Given the description of an element on the screen output the (x, y) to click on. 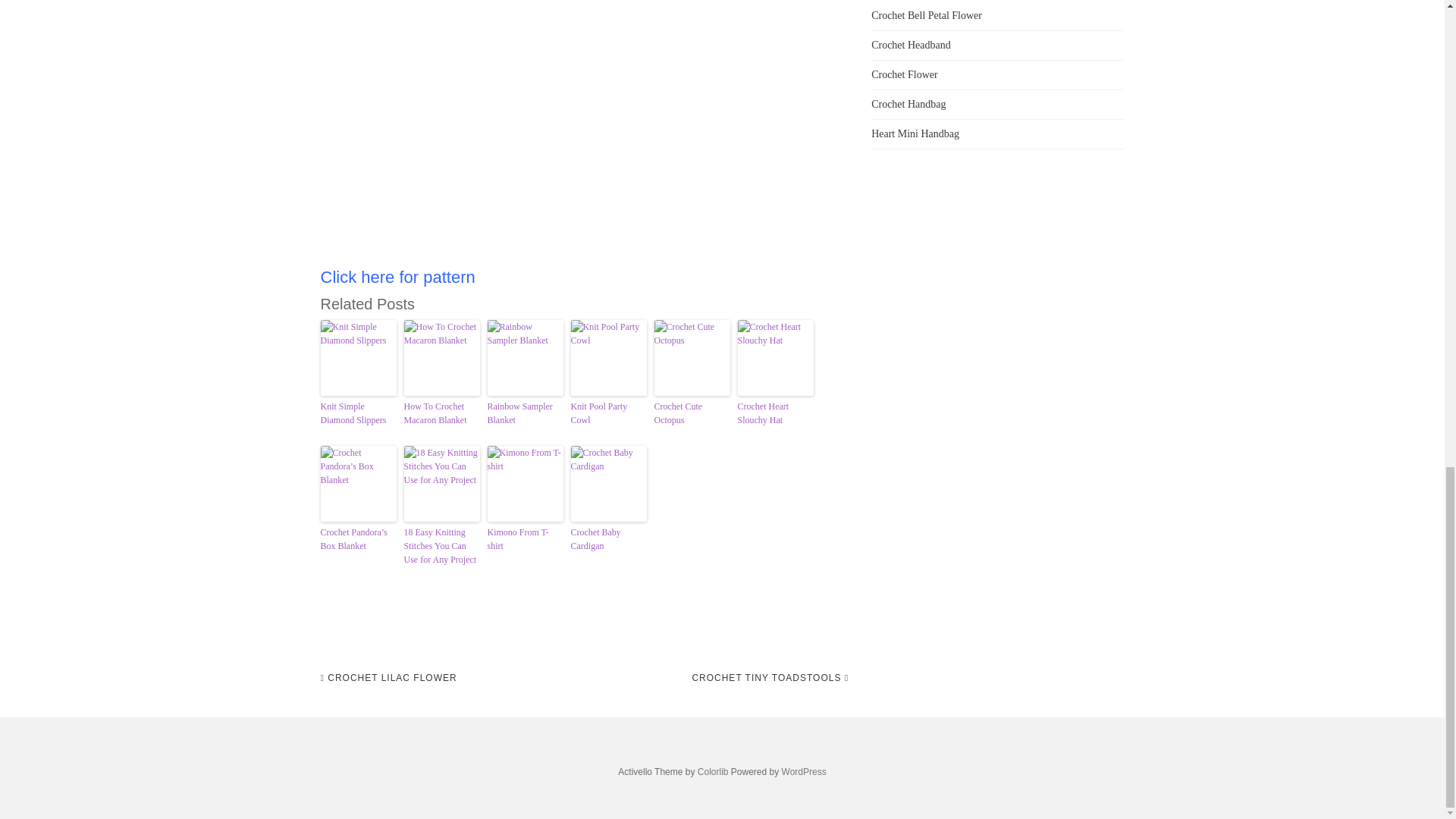
Crochet Headband (910, 44)
CROCHET TINY TOADSTOOLS (769, 678)
Crochet Baby Cardigan (608, 538)
18 Easy Knitting Stitches You Can Use for Any Project (441, 545)
Crochet Flower (903, 74)
Crochet Heart Slouchy Hat (774, 412)
Crochet Cute Octopus (691, 412)
Click here for pattern (397, 276)
Knit Pool Party Cowl (608, 412)
Crochet Bell Petal Flower (925, 15)
Knit Simple Diamond Slippers (358, 412)
Rainbow Sampler Blanket (524, 412)
Kimono From T-shirt (524, 538)
How To Crochet Macaron Blanket (441, 412)
CROCHET LILAC FLOWER (388, 678)
